Given the description of an element on the screen output the (x, y) to click on. 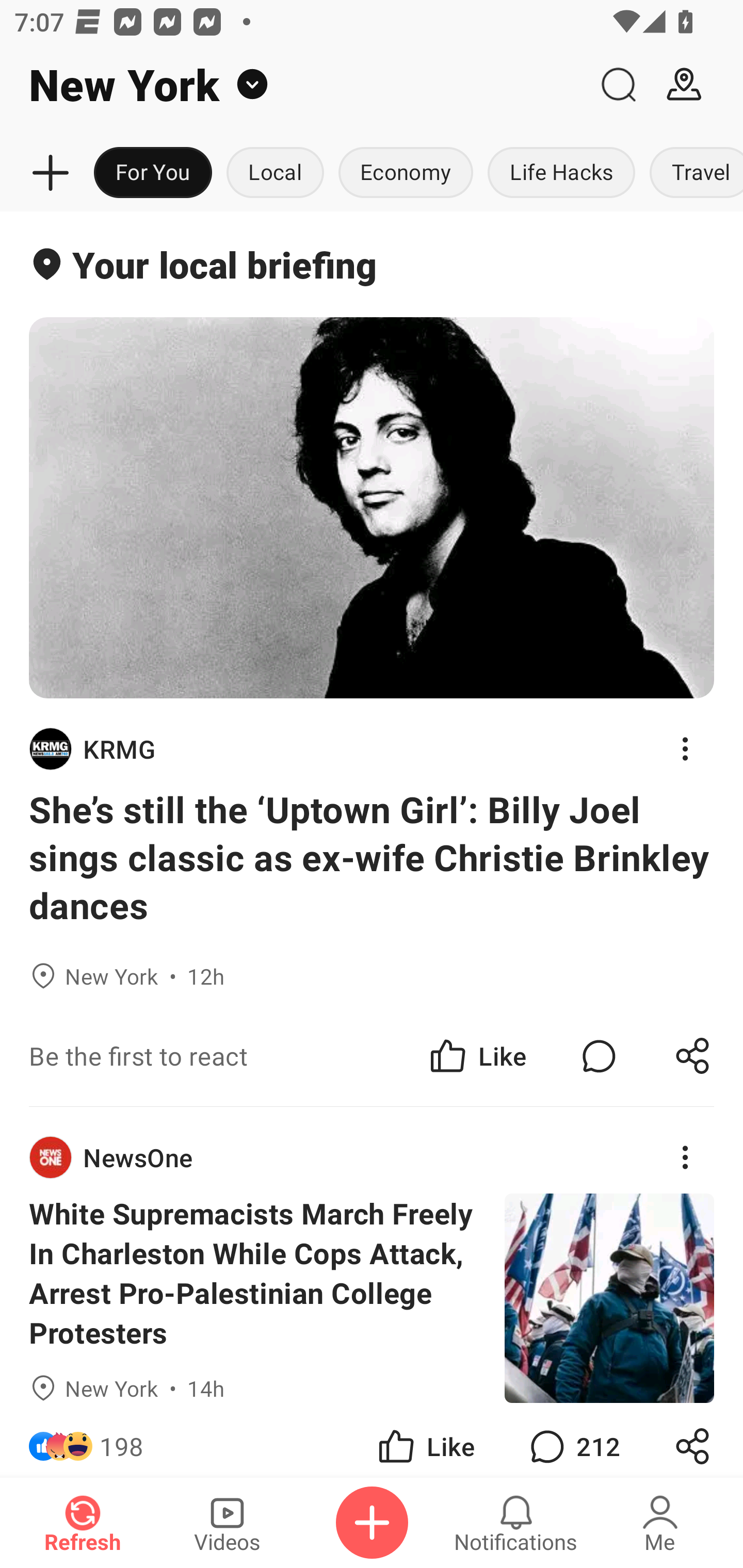
New York (292, 84)
For You (152, 172)
Local (275, 172)
Economy (405, 172)
Life Hacks (561, 172)
Travel (692, 172)
Be the first to react (244, 1055)
Like (476, 1055)
198 (121, 1440)
Like (425, 1440)
212 (572, 1440)
Videos (227, 1522)
Notifications (516, 1522)
Me (659, 1522)
